Given the description of an element on the screen output the (x, y) to click on. 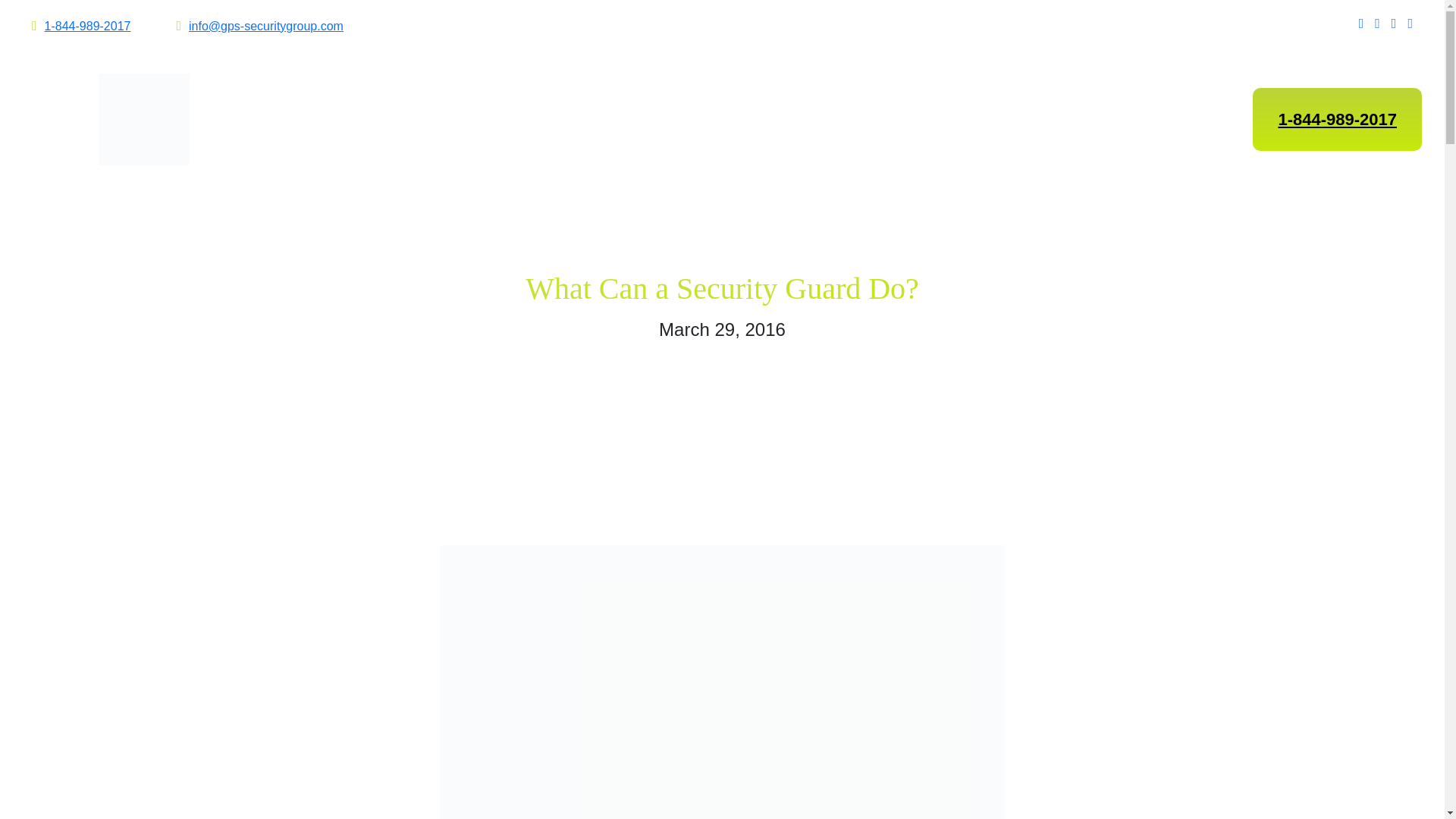
1-844-989-2017 (88, 25)
Home (431, 119)
Western Canada (776, 119)
Industries (640, 119)
Services (527, 119)
